Given the description of an element on the screen output the (x, y) to click on. 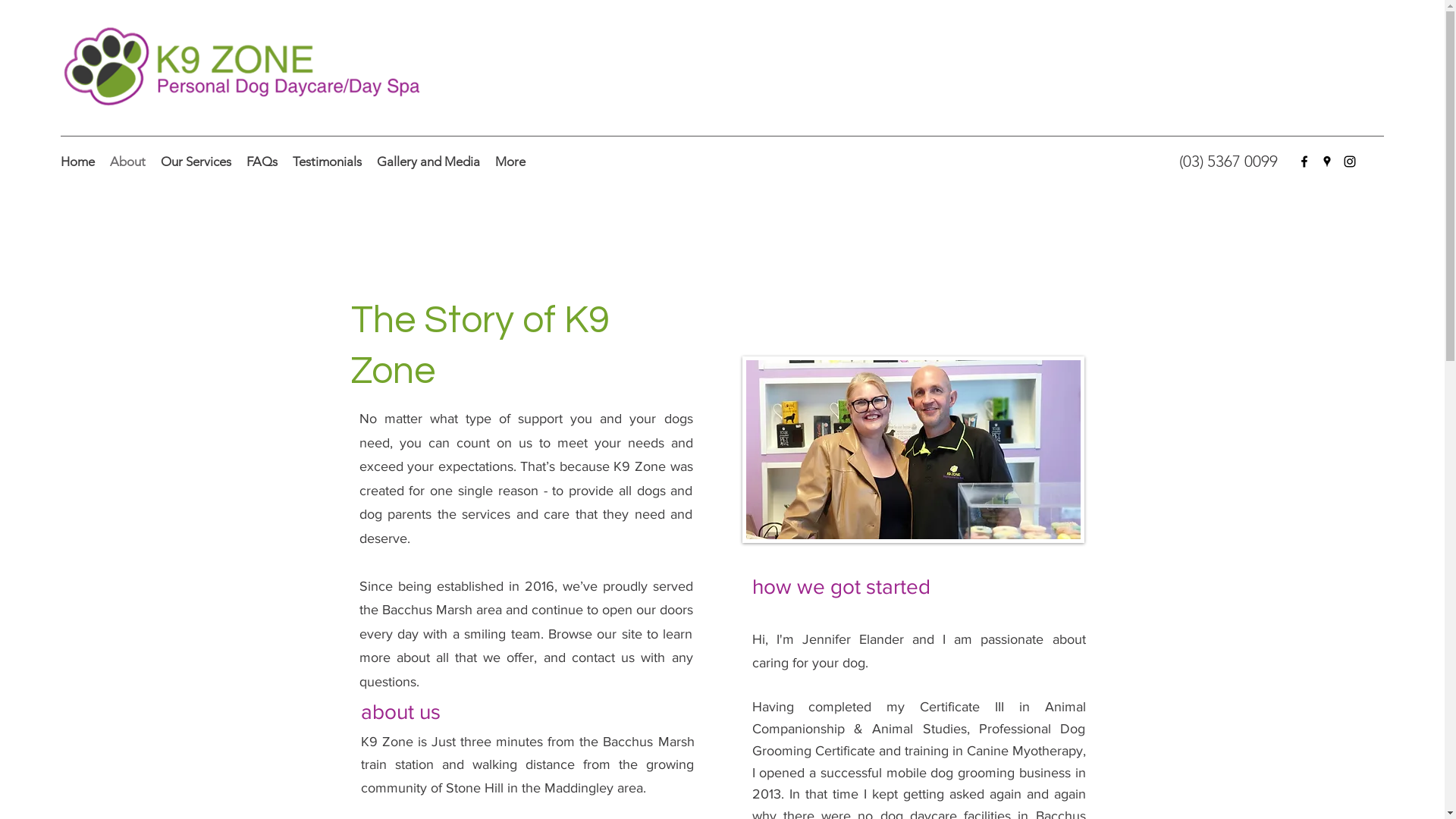
FAQs Element type: text (261, 161)
Home Element type: text (77, 161)
About Element type: text (127, 161)
Gallery and Media Element type: text (428, 161)
Our Services Element type: text (195, 161)
Testimonials Element type: text (327, 161)
